Given the description of an element on the screen output the (x, y) to click on. 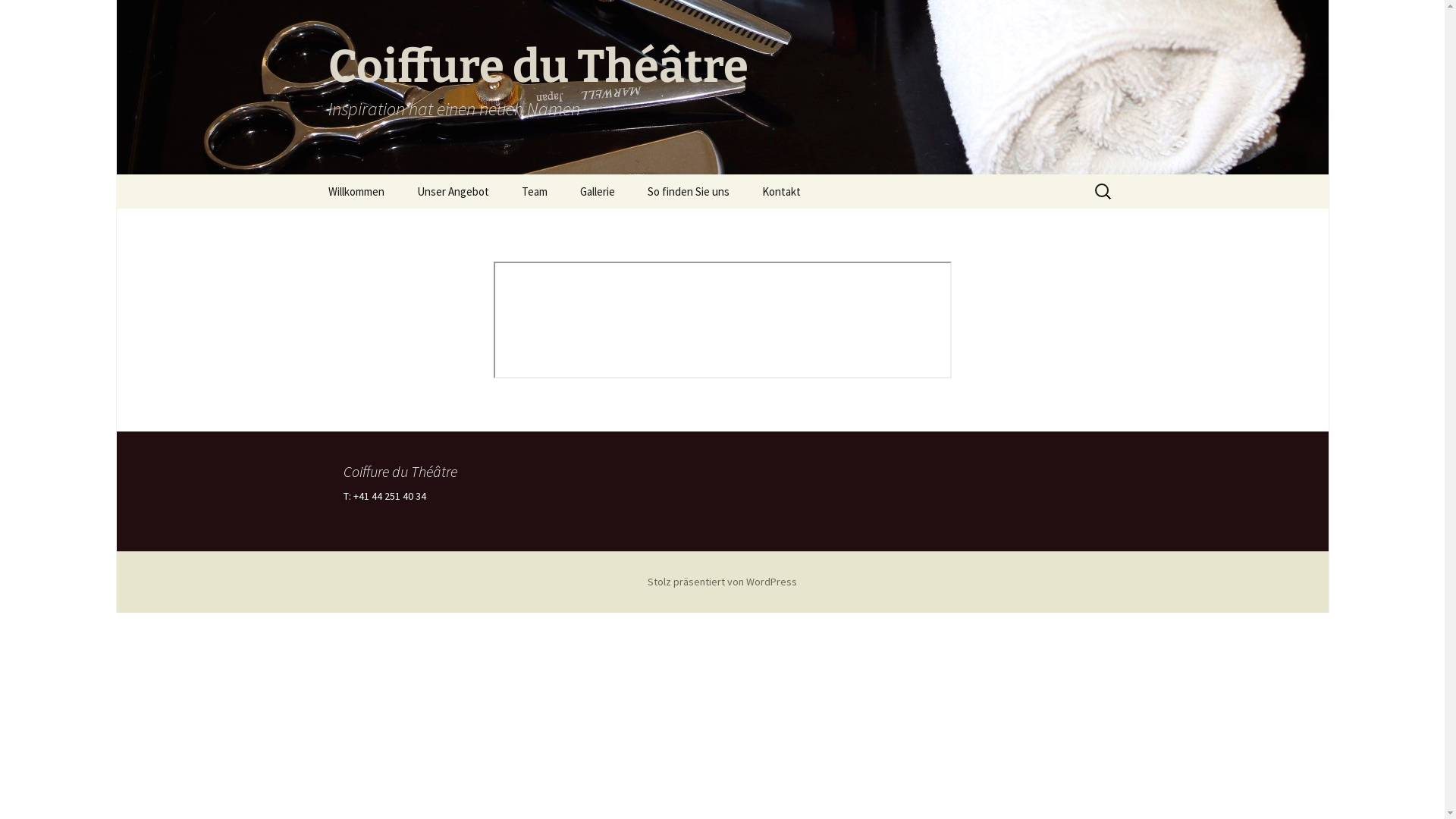
Team Element type: text (534, 191)
Springe zum Inhalt Element type: text (312, 173)
Coiffeur Element type: text (477, 225)
Gallerie Element type: text (596, 191)
Suche Element type: text (18, 16)
Unser Angebot Element type: text (452, 191)
Kontakt Element type: text (780, 191)
Alex Schulzke Element type: text (582, 225)
Willkommen Element type: text (355, 191)
So finden Sie uns Element type: text (688, 191)
